Given the description of an element on the screen output the (x, y) to click on. 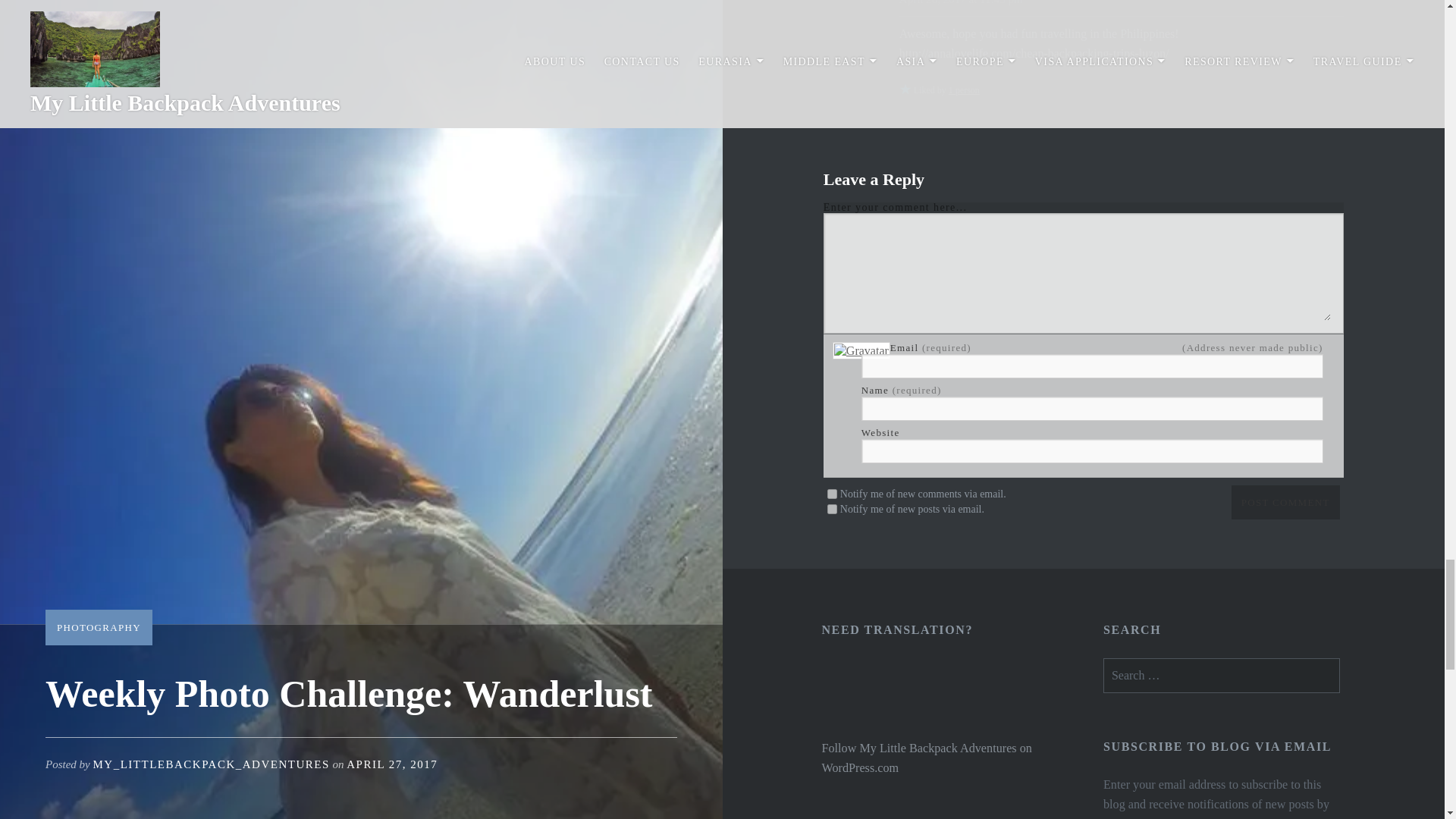
Enter your comment here... (1082, 273)
subscribe (832, 509)
subscribe (832, 493)
Post Comment (1285, 502)
